Given the description of an element on the screen output the (x, y) to click on. 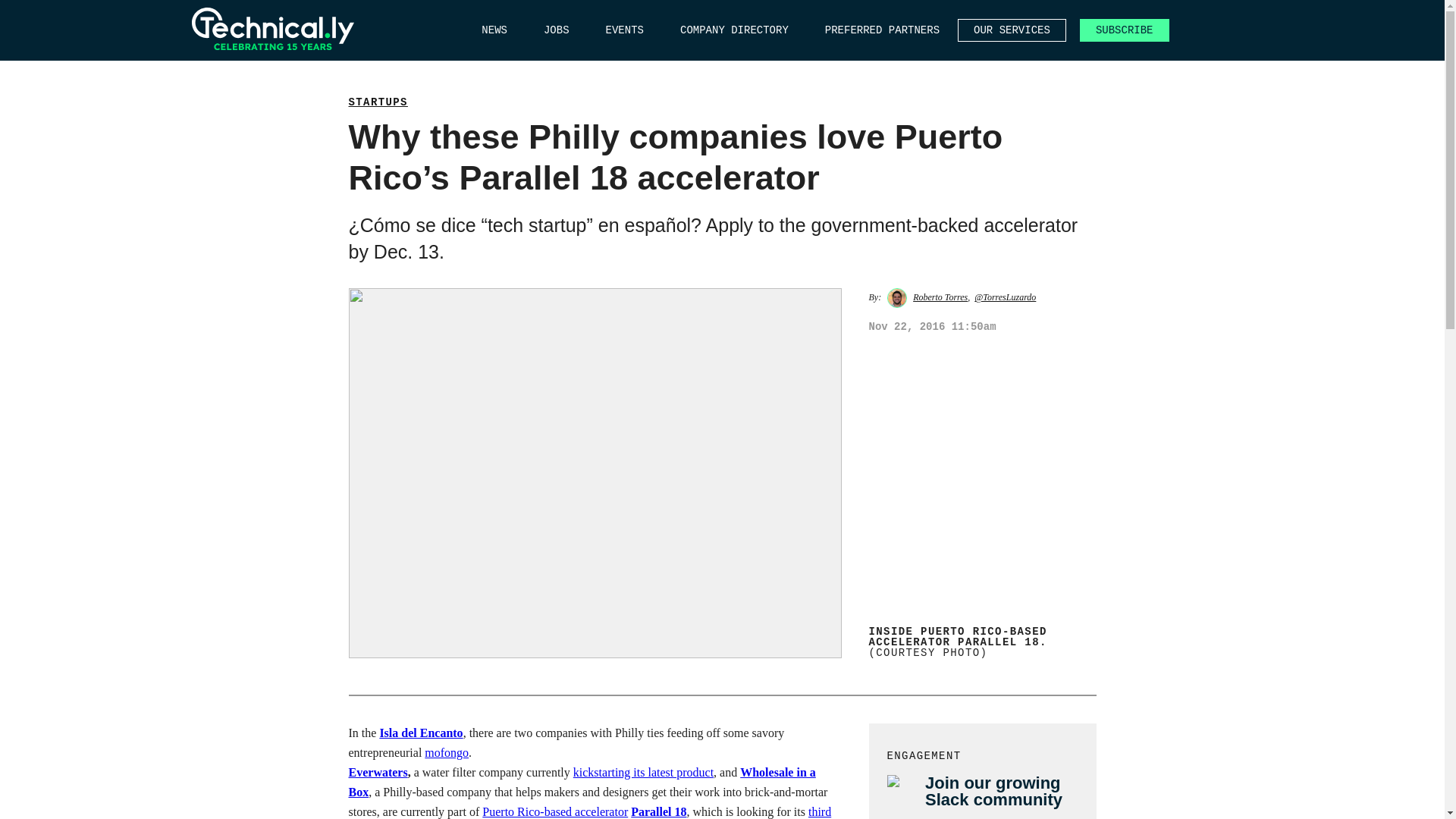
Our Services (1011, 29)
JOBS (556, 30)
Company Directory (734, 30)
OUR SERVICES (1011, 29)
third generation of startups (590, 812)
Events Board (624, 30)
Isla del Encanto (420, 732)
Everwaters (378, 771)
Wholesale in a Box (582, 781)
